Given the description of an element on the screen output the (x, y) to click on. 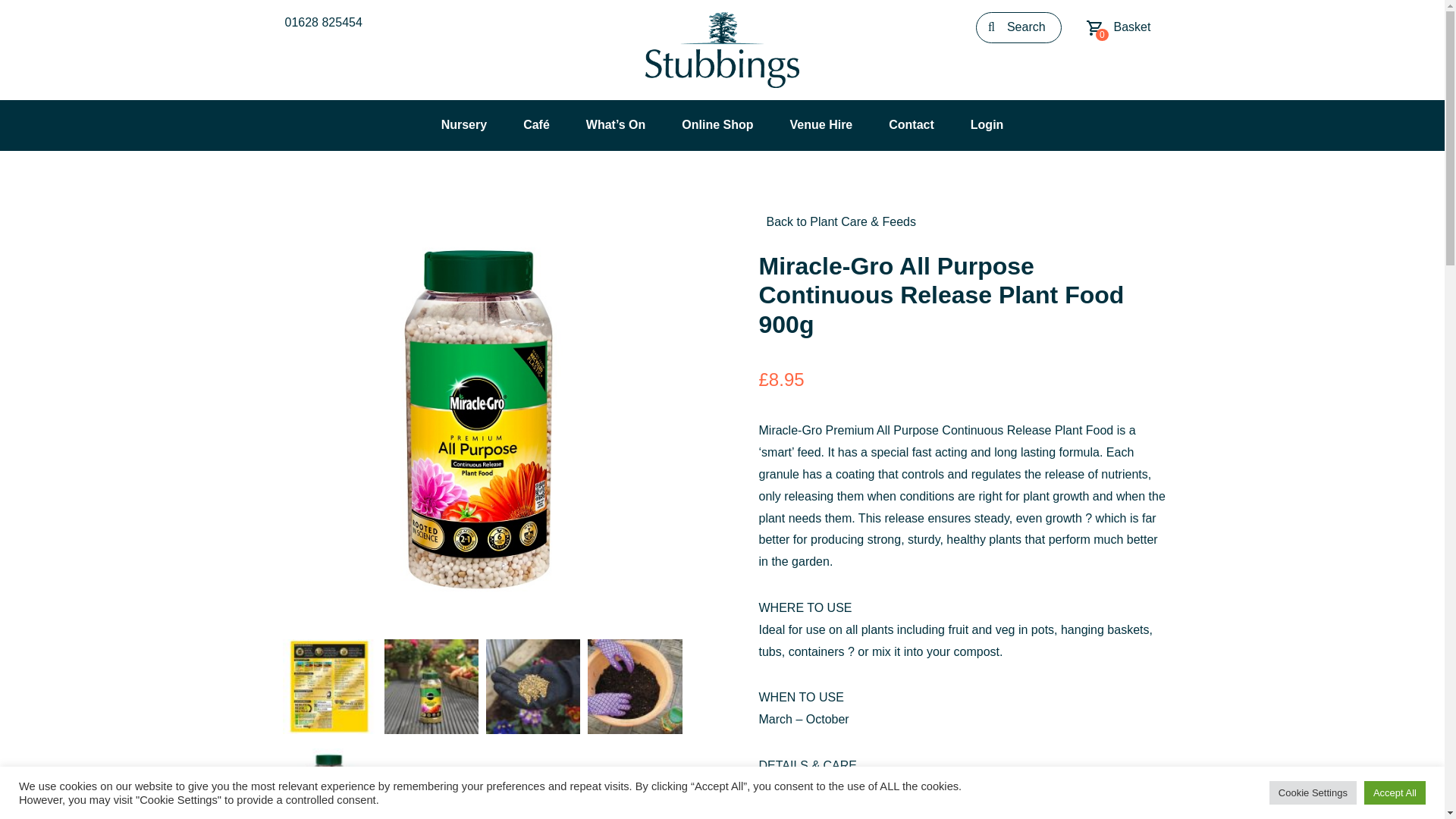
Search (1018, 27)
121066-5010272192285.jpg (1118, 27)
121066-furtherimage-4.jpg (329, 781)
Contact (634, 686)
Online Shop (911, 125)
01628 825454 (716, 125)
Nursery (320, 21)
121066-furtherimage-2.jpg (463, 125)
121066-5010272192285-back.jpg (532, 686)
121066-5010272192285.jpg (329, 686)
Login (821, 125)
121066-furtherimage-1.jpg (987, 125)
